Given the description of an element on the screen output the (x, y) to click on. 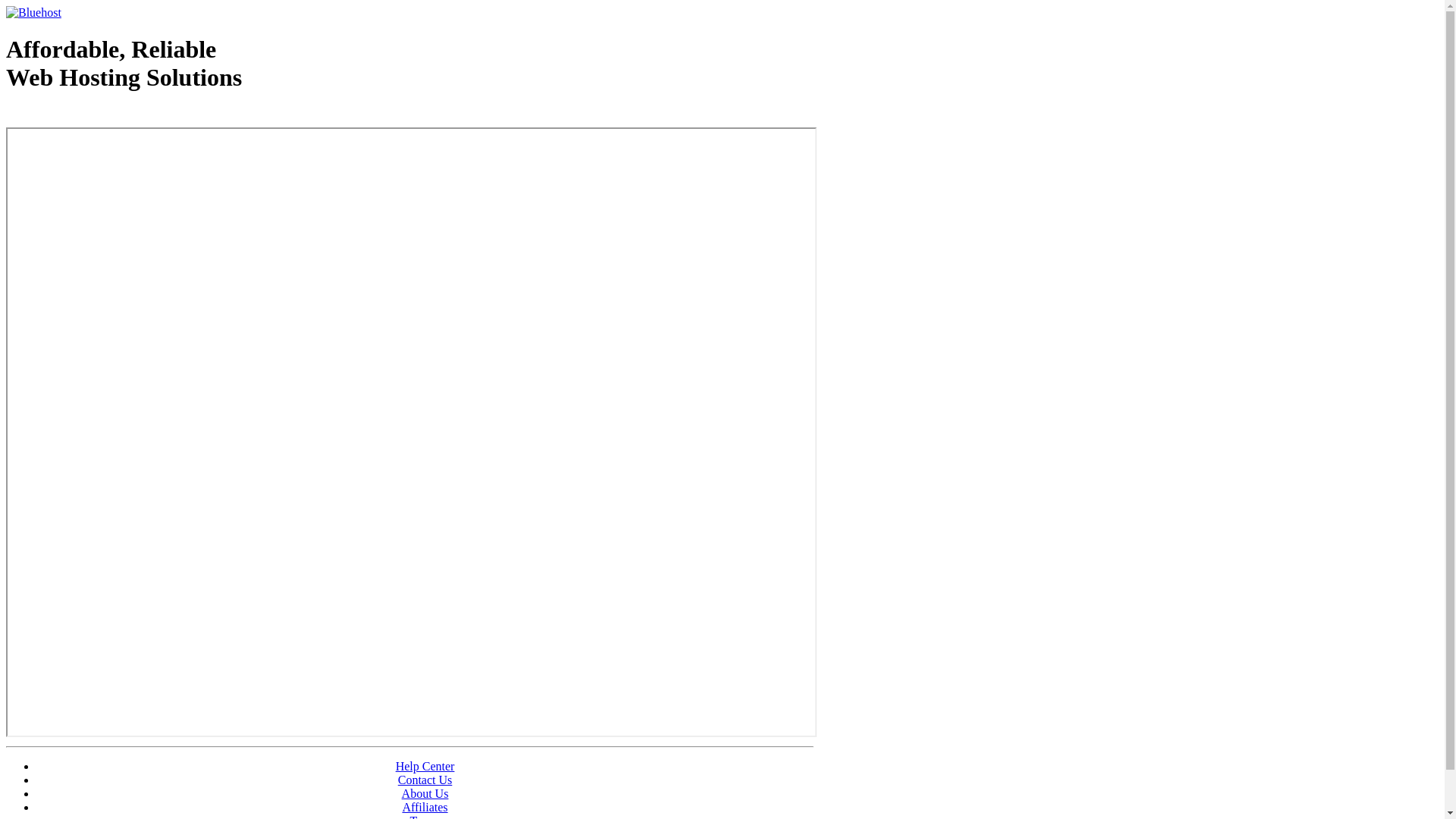
Contact Us Element type: text (425, 779)
Affiliates Element type: text (424, 806)
Web Hosting - courtesy of www.bluehost.com Element type: text (94, 115)
About Us Element type: text (424, 793)
Help Center Element type: text (425, 765)
